Given the description of an element on the screen output the (x, y) to click on. 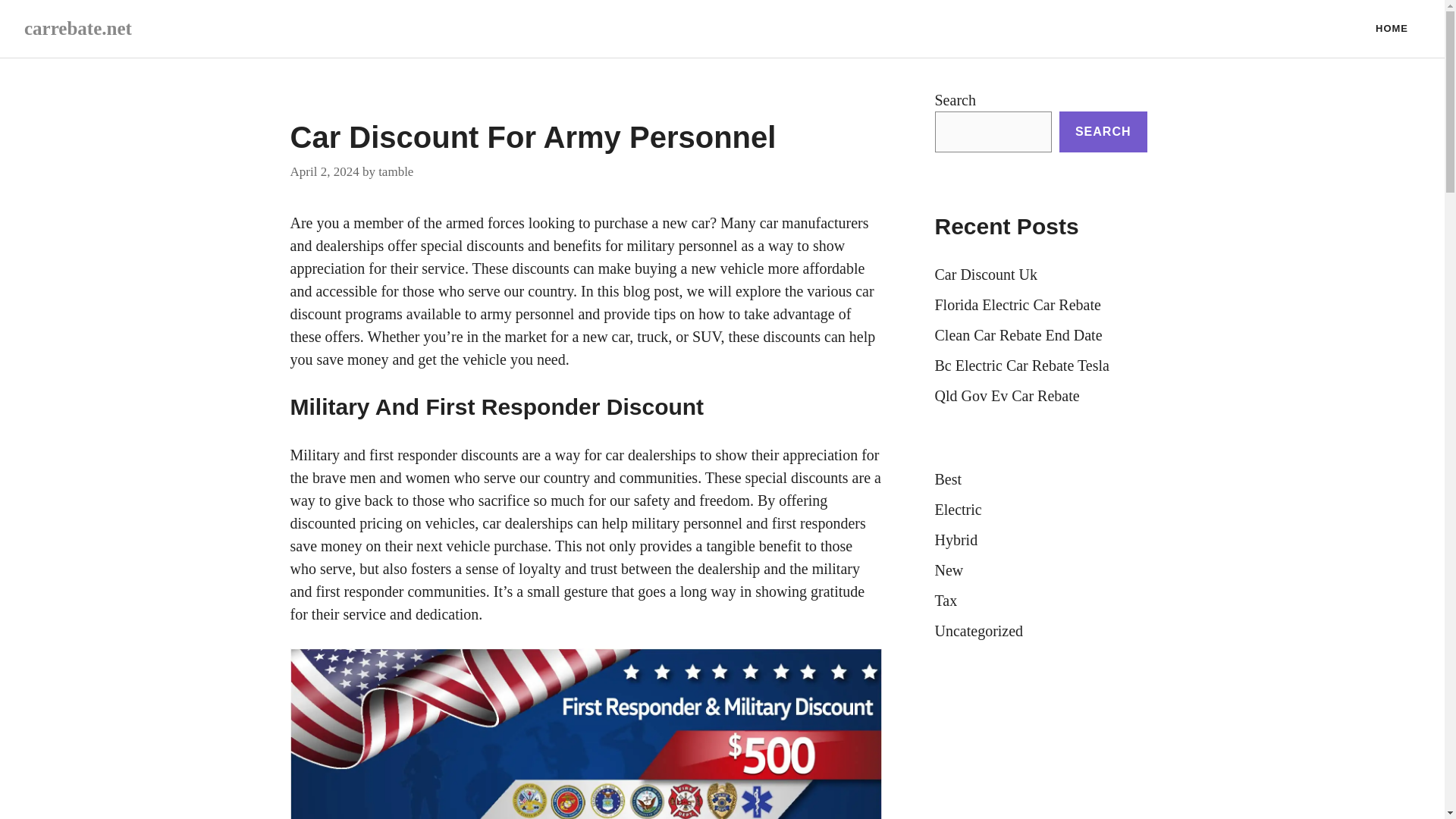
Best (947, 478)
carrebate.net (78, 28)
Clean Car Rebate End Date (1018, 334)
Bc Electric Car Rebate Tesla (1021, 365)
View all posts by tamble (395, 170)
Uncategorized (978, 630)
New (948, 569)
SEARCH (1103, 131)
HOME (1391, 28)
Florida Electric Car Rebate (1017, 304)
